Given the description of an element on the screen output the (x, y) to click on. 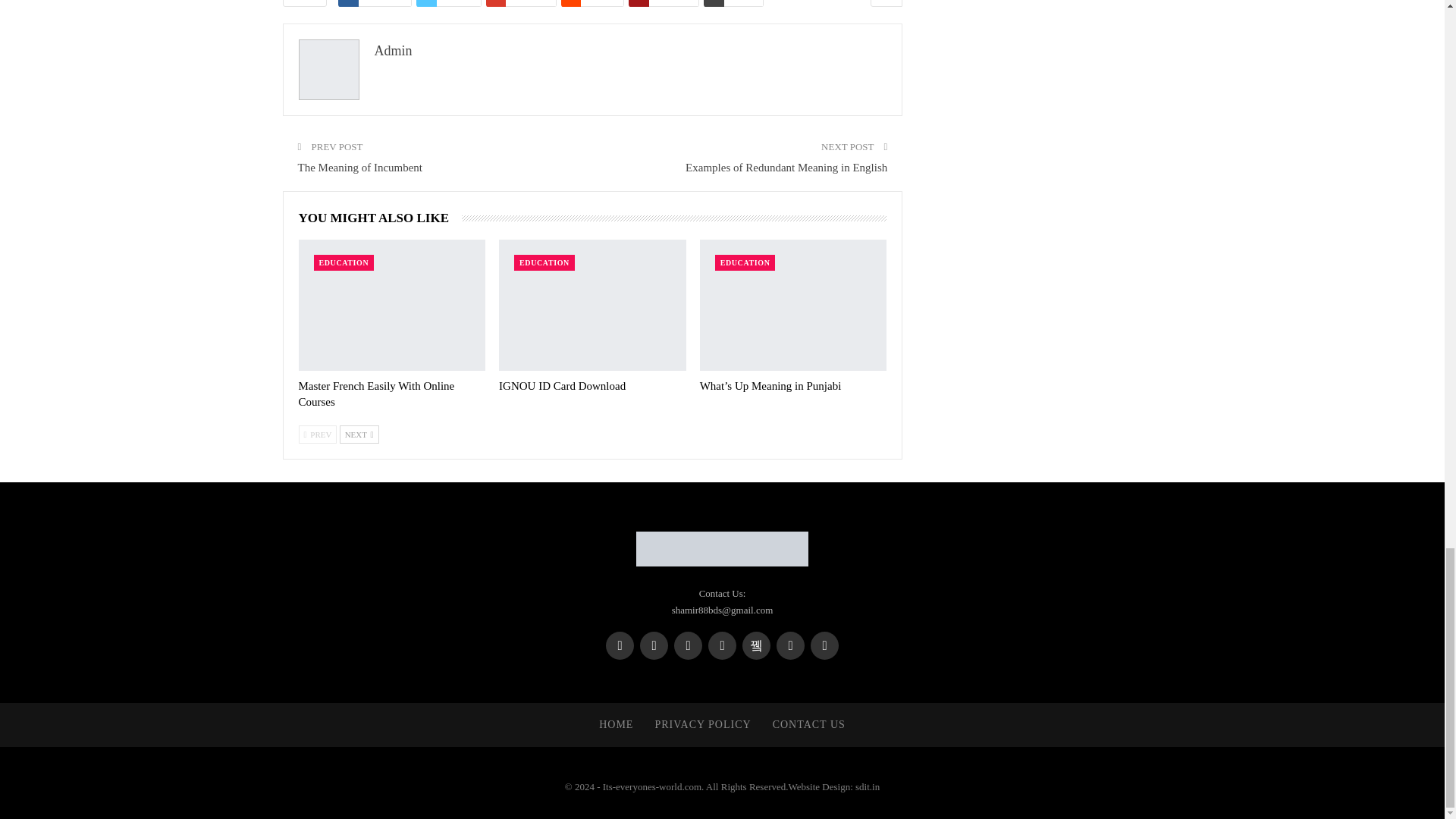
IGNOU ID Card Download (592, 305)
Previous (317, 434)
Master French Easily With Online Courses (376, 393)
Master French Easily With Online Courses (392, 305)
Next (358, 434)
IGNOU ID Card Download (562, 386)
